Given the description of an element on the screen output the (x, y) to click on. 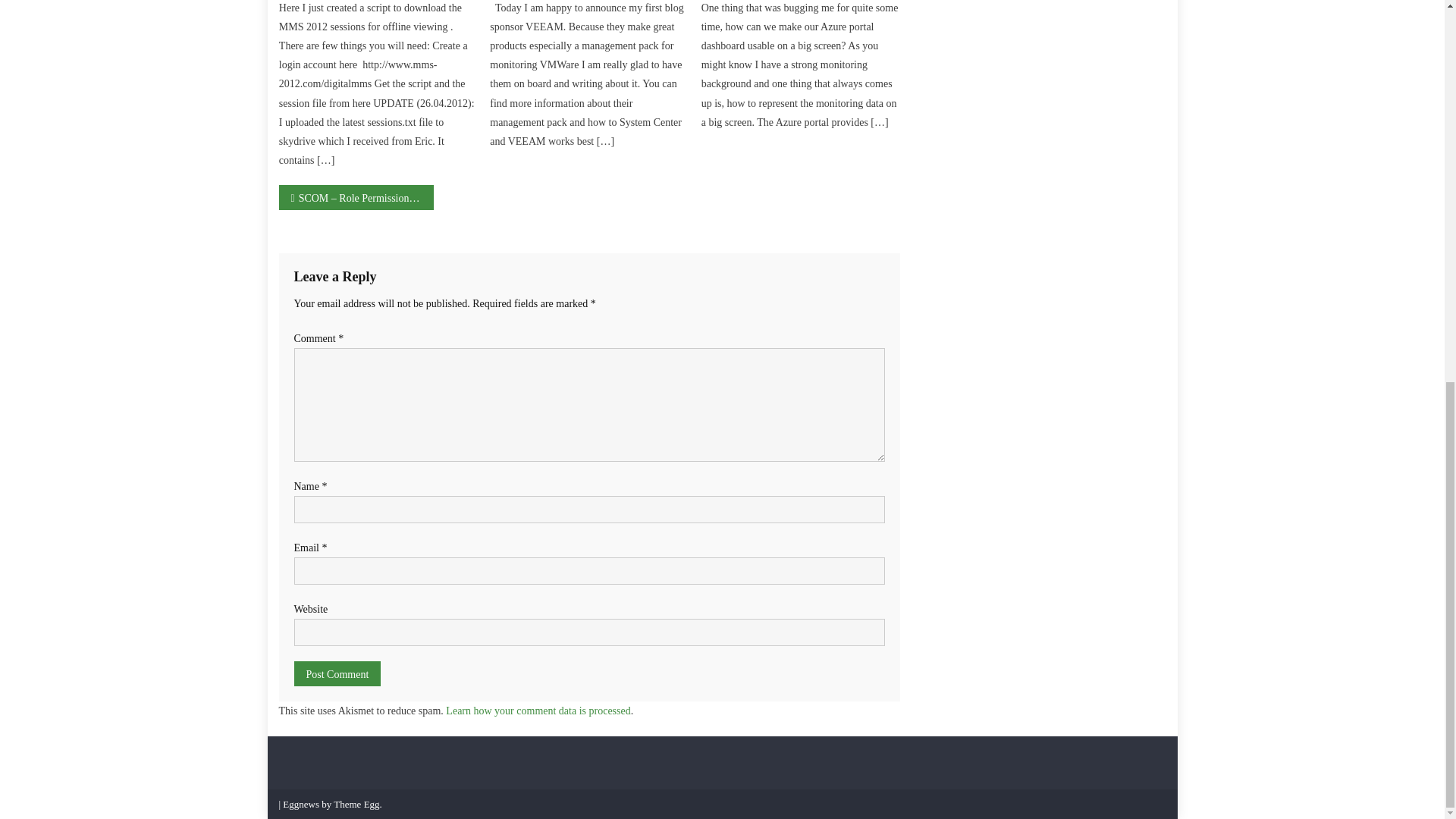
Post Comment (337, 673)
